Given the description of an element on the screen output the (x, y) to click on. 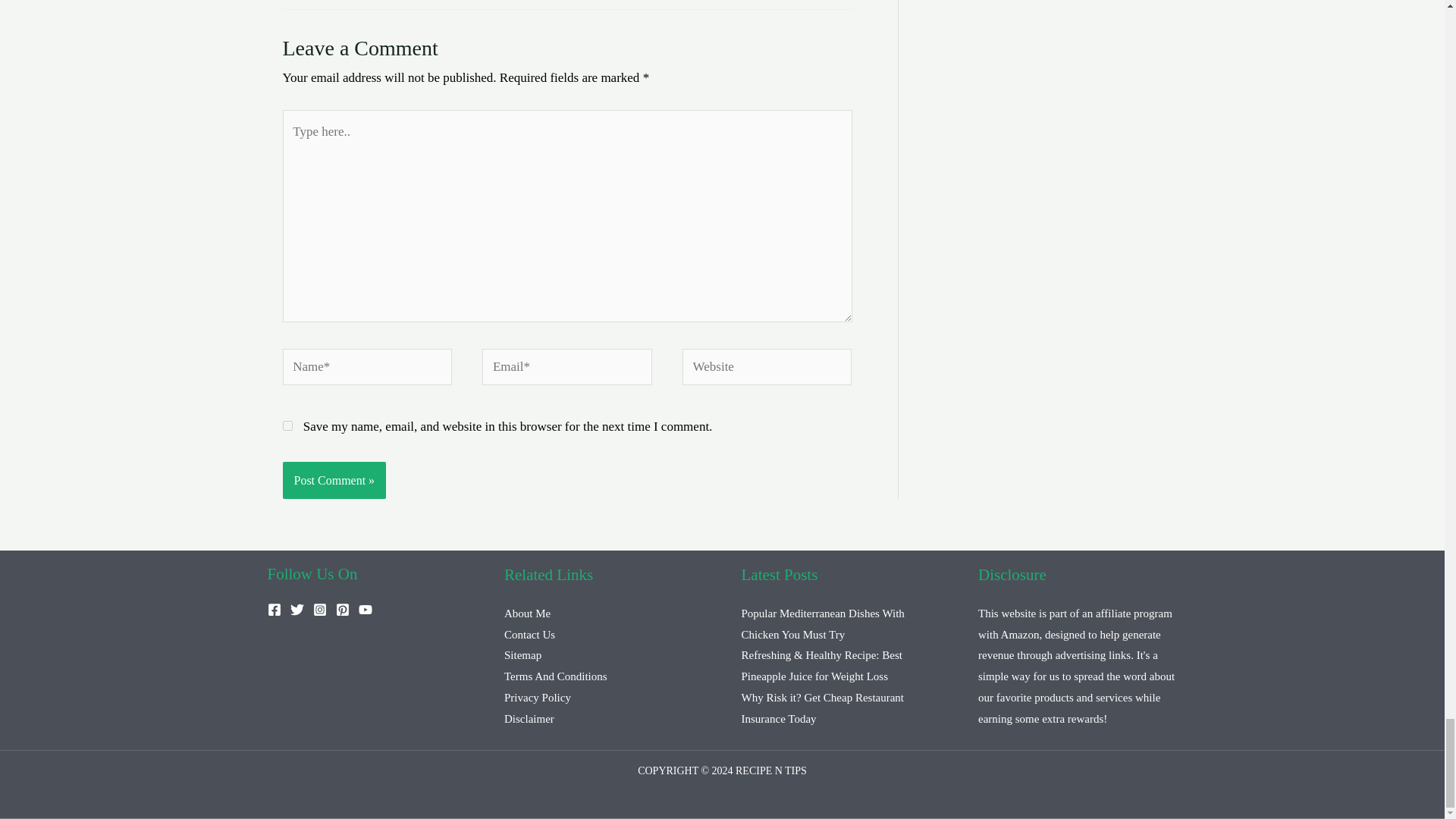
yes (287, 425)
